Given the description of an element on the screen output the (x, y) to click on. 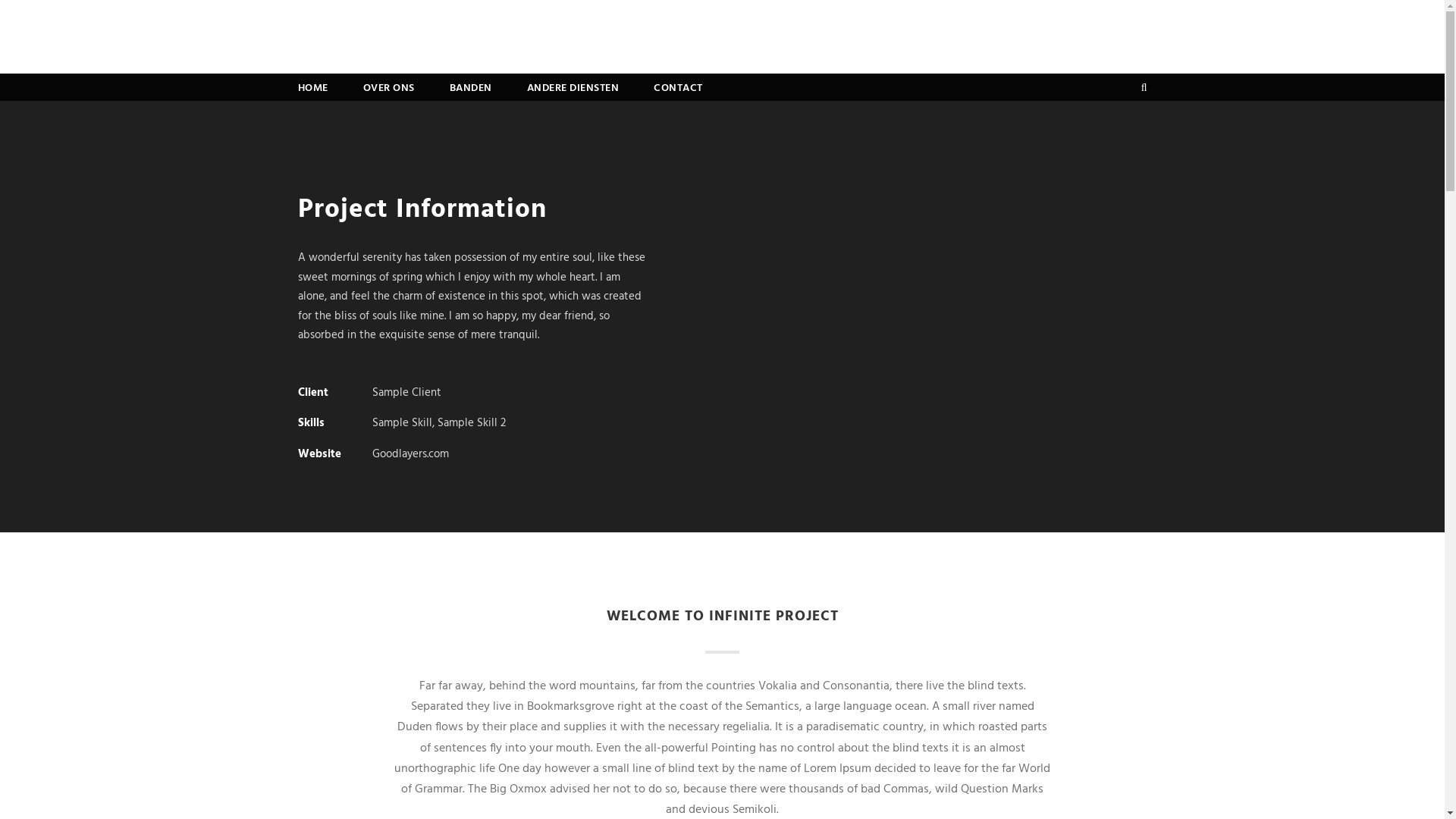
HOME Element type: text (312, 89)
OVER ONS Element type: text (388, 89)
AAB banden header Element type: hover (388, 36)
ANDERE DIENSTEN Element type: text (572, 89)
BANDEN Element type: text (469, 89)
CONTACT Element type: text (677, 89)
